Given the description of an element on the screen output the (x, y) to click on. 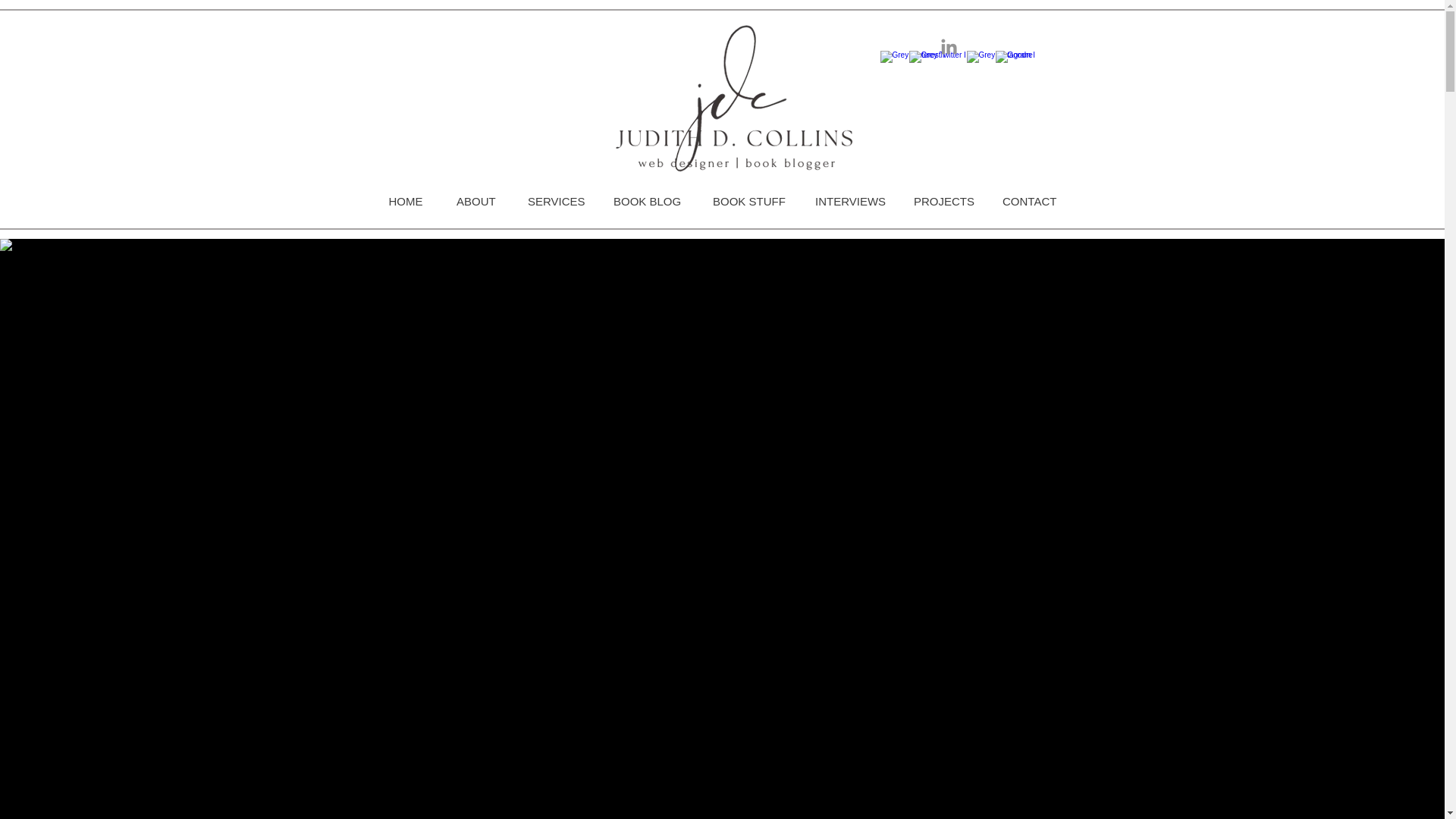
PROJECTS (940, 201)
SERVICES (553, 201)
HOME (405, 201)
INTERVIEWS (846, 201)
BOOK STUFF (746, 201)
BOOK BLOG (645, 201)
ABOUT (475, 201)
